Given the description of an element on the screen output the (x, y) to click on. 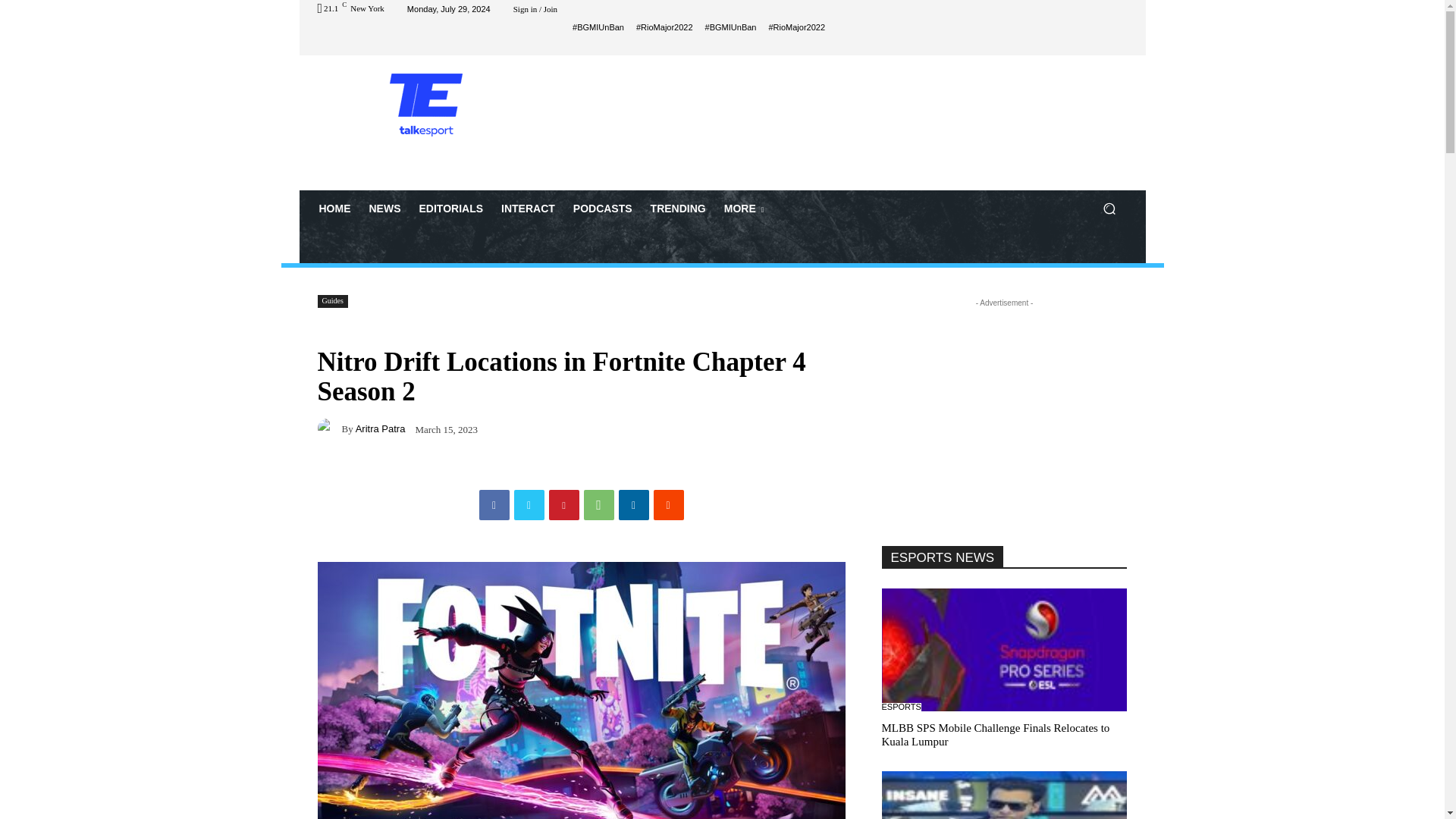
EDITORIALS (450, 208)
INTERACT (528, 208)
WhatsApp (598, 504)
Advertisement (849, 121)
Facebook (494, 504)
NEWS (384, 208)
Linkedin (633, 504)
Aritra Patra (328, 428)
TRENDING (678, 208)
HOME (333, 208)
PODCASTS (603, 208)
Twitter (528, 504)
Pinterest (563, 504)
